Given the description of an element on the screen output the (x, y) to click on. 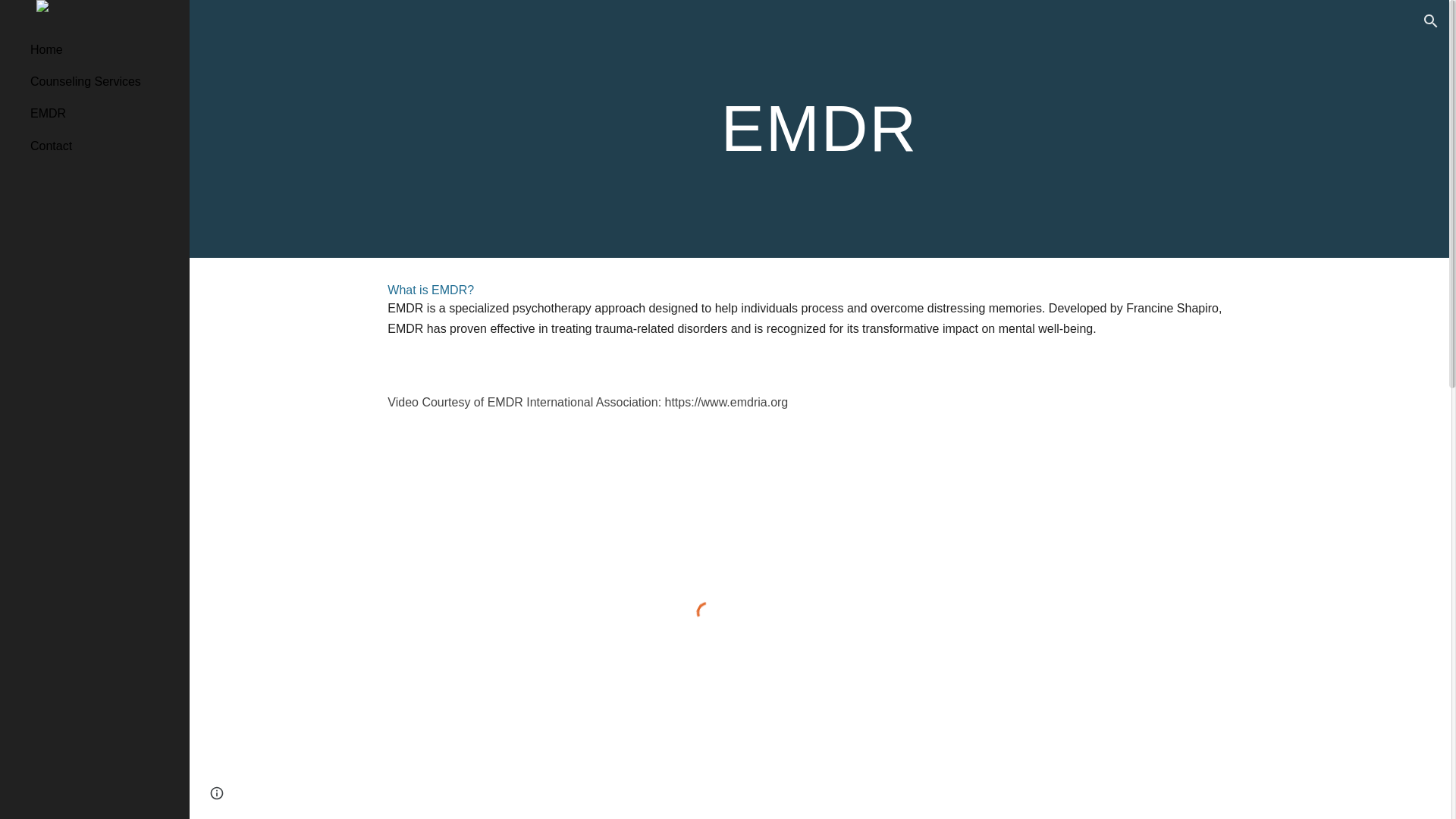
Counseling Services (103, 81)
Contact (103, 145)
EMDR (103, 113)
Home (103, 49)
